Given the description of an element on the screen output the (x, y) to click on. 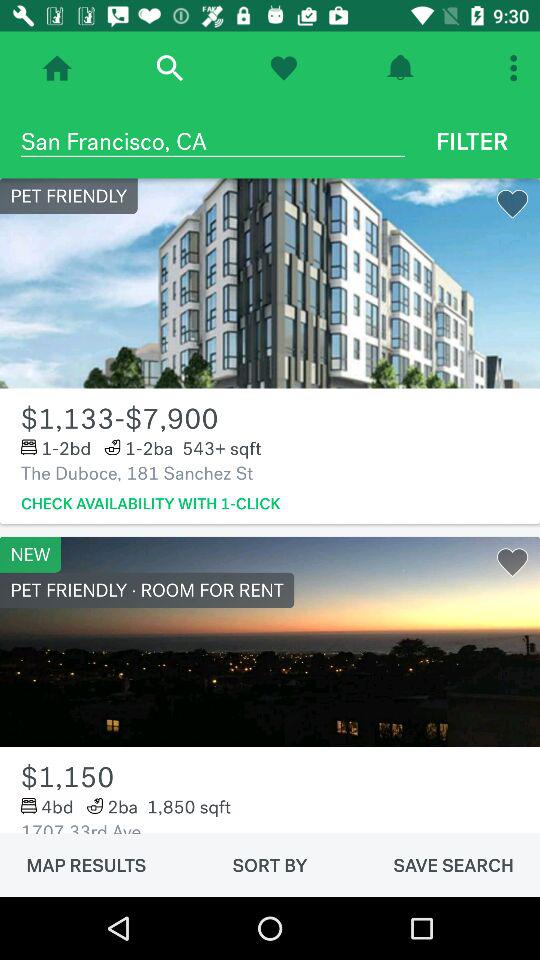
search input (169, 68)
